Given the description of an element on the screen output the (x, y) to click on. 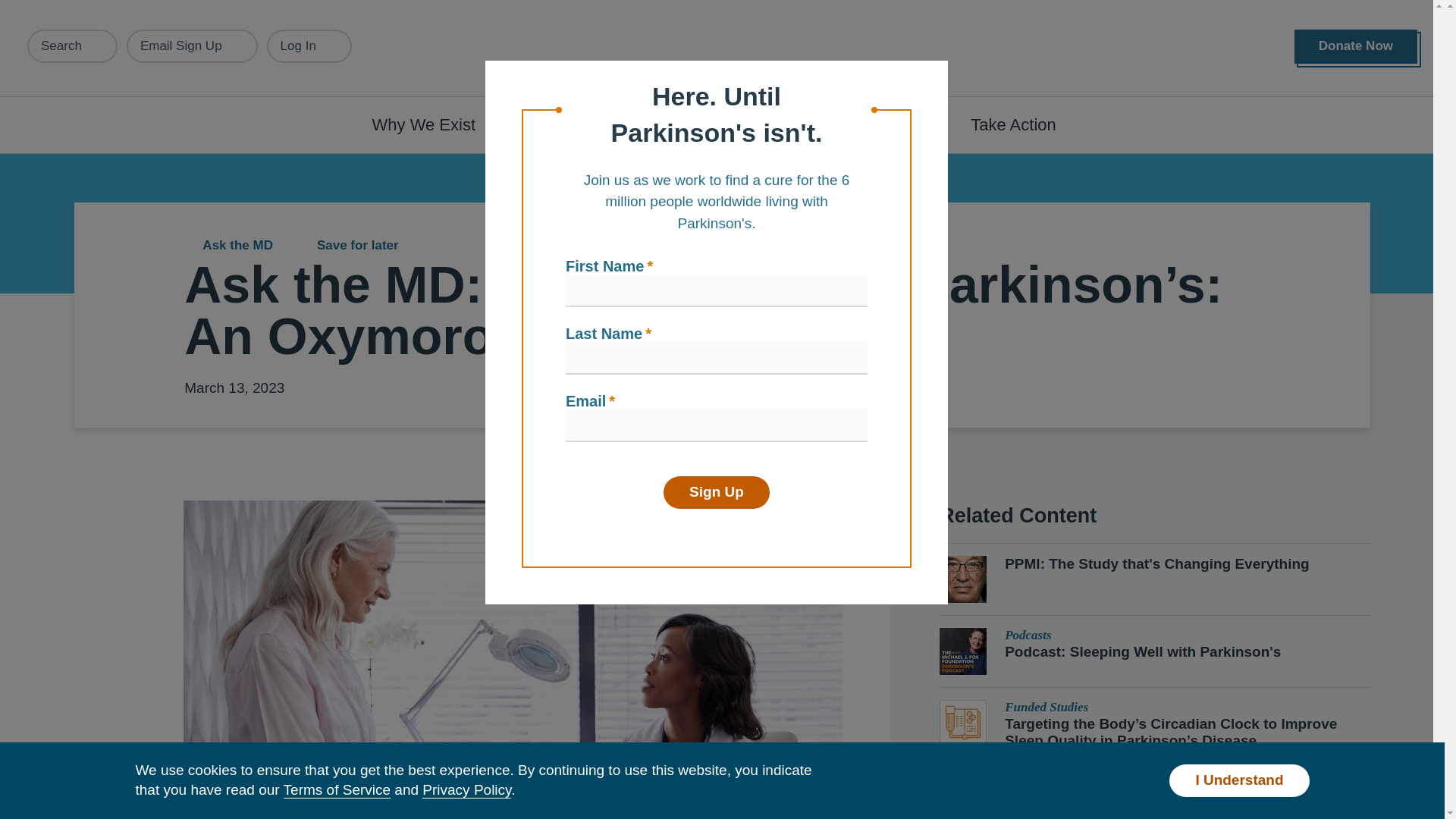
Search (72, 46)
Email Sign Up (191, 46)
Home Page (722, 48)
Log In (309, 46)
Why We Exist (432, 125)
Skip to main content (96, 7)
Donate Now (1355, 46)
Understanding Parkinson's (640, 125)
